Given the description of an element on the screen output the (x, y) to click on. 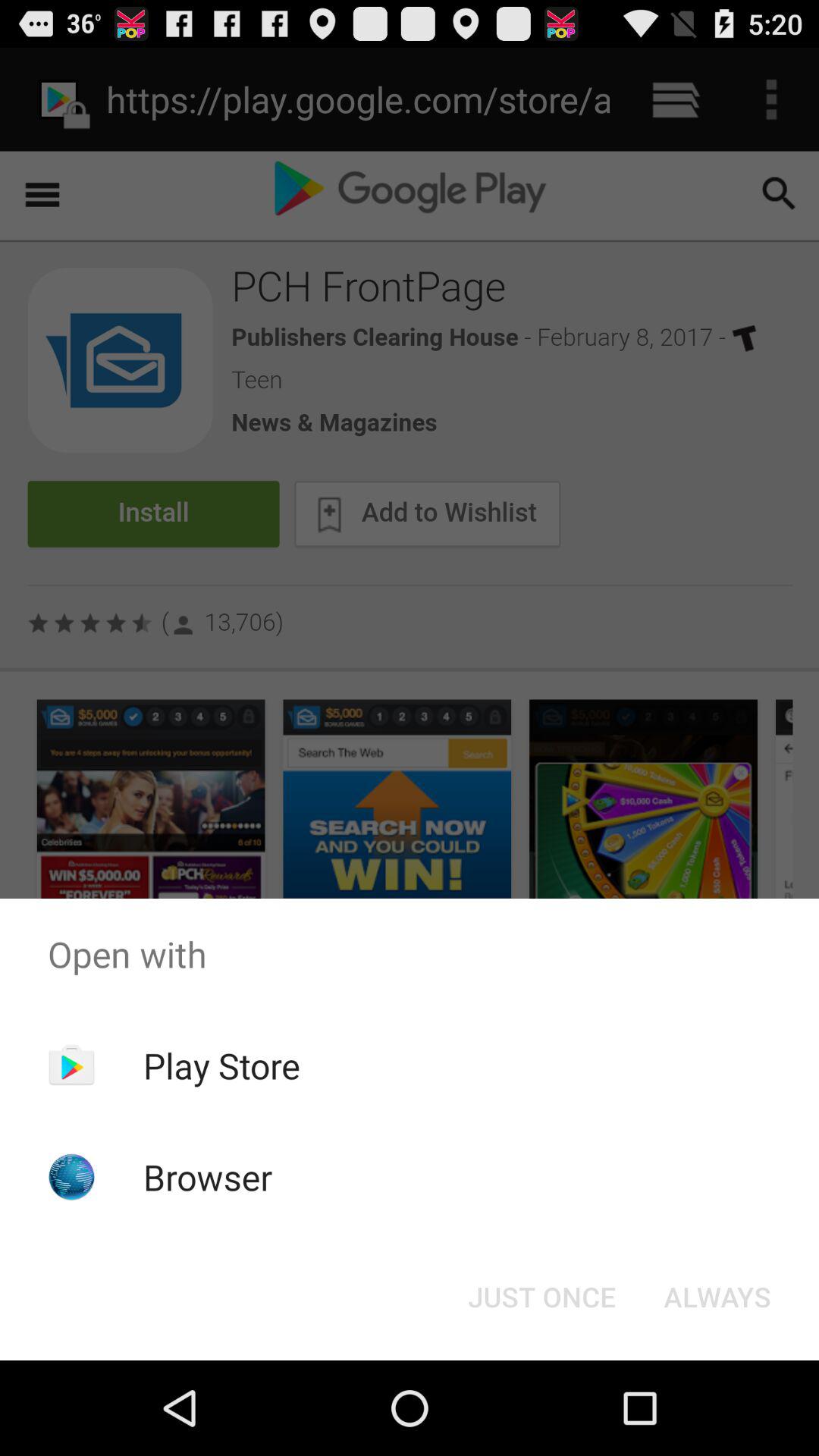
turn off just once item (541, 1296)
